Given the description of an element on the screen output the (x, y) to click on. 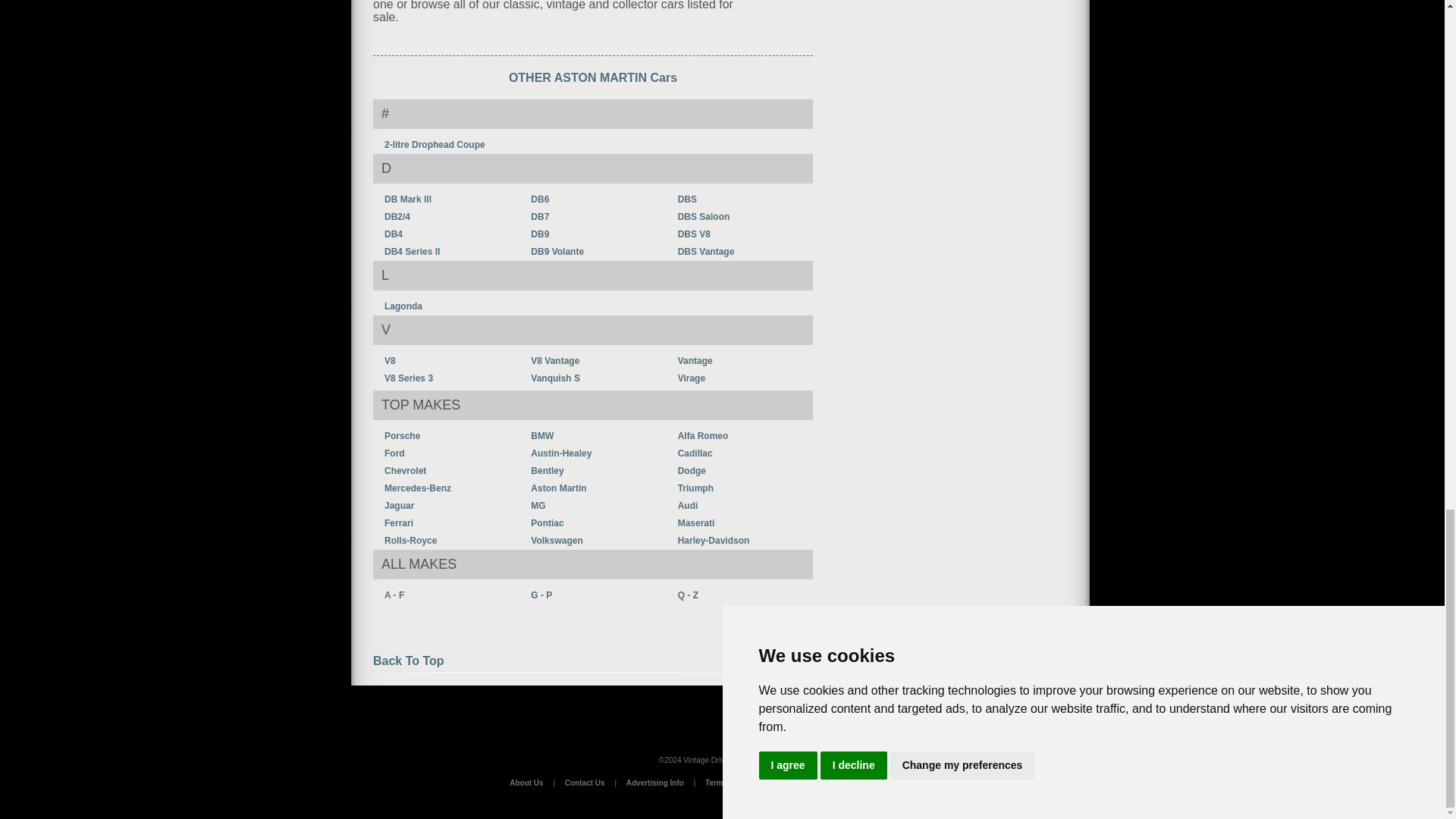
DBS Vantage (706, 251)
V8 (390, 360)
V8 Series 3 (408, 378)
DB9 Volante (557, 251)
V8 Vantage (555, 360)
DB Mark lll (407, 199)
DB4 (393, 234)
DBS (687, 199)
2-litre Drophead Coupe (434, 144)
DB6 (539, 199)
